Given the description of an element on the screen output the (x, y) to click on. 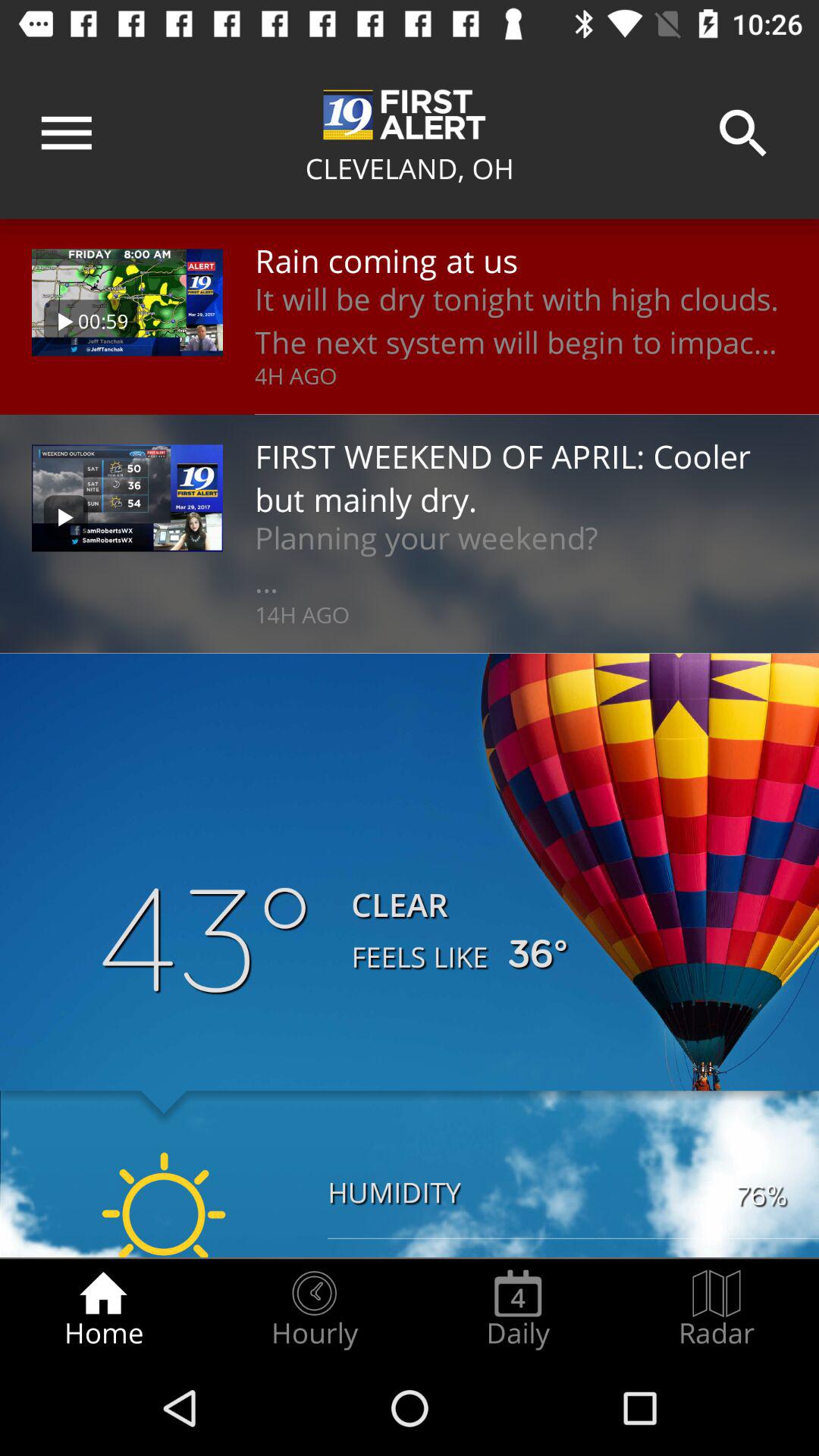
select the radio button next to the radar icon (518, 1309)
